Given the description of an element on the screen output the (x, y) to click on. 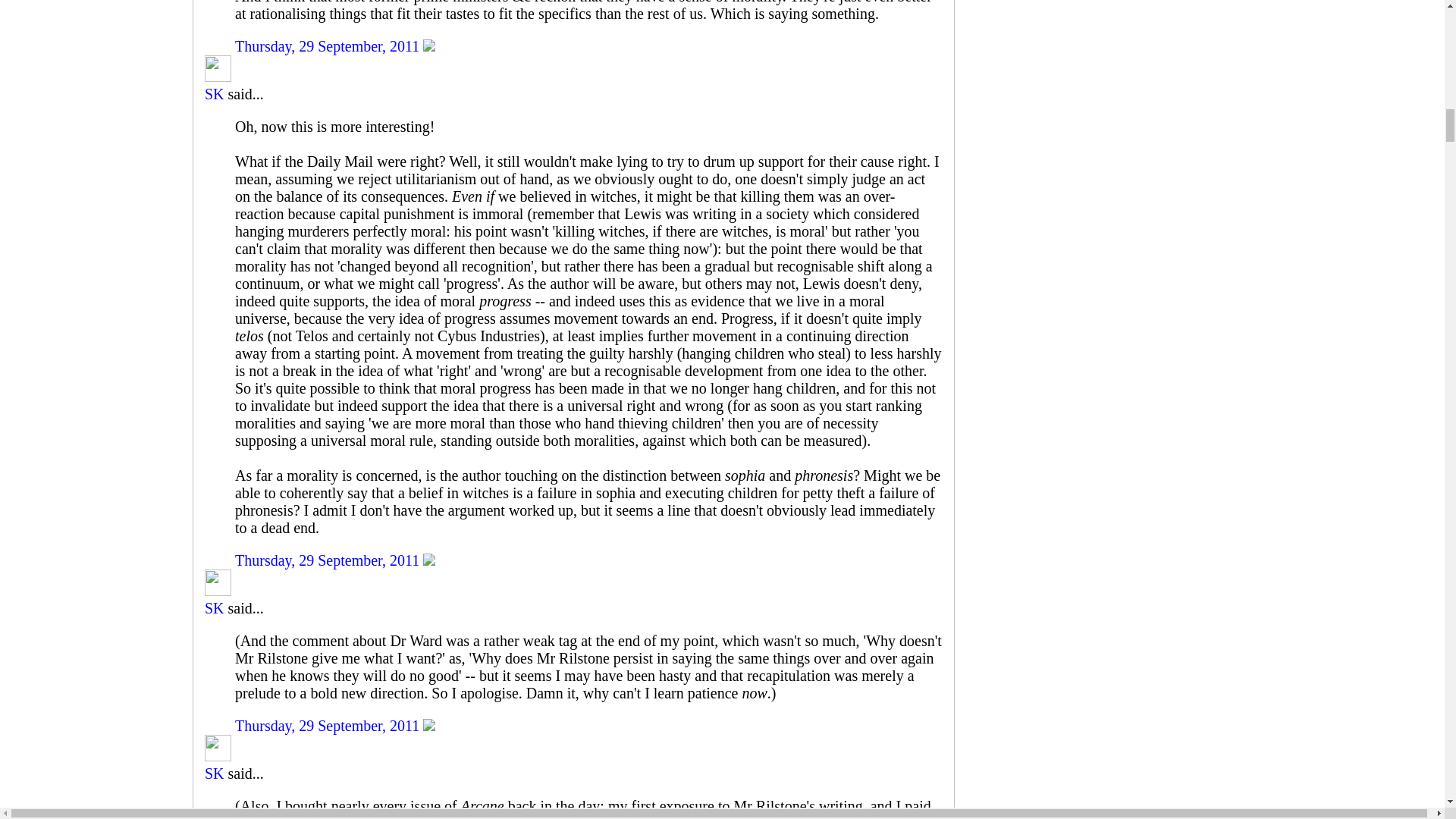
SK (218, 582)
SK (214, 773)
comment permalink (328, 725)
comment permalink (328, 560)
Thursday, 29 September, 2011 (328, 725)
comment permalink (328, 45)
Thursday, 29 September, 2011 (328, 560)
Thursday, 29 September, 2011 (328, 45)
SK (214, 607)
SK (218, 68)
SK (214, 93)
